Given the description of an element on the screen output the (x, y) to click on. 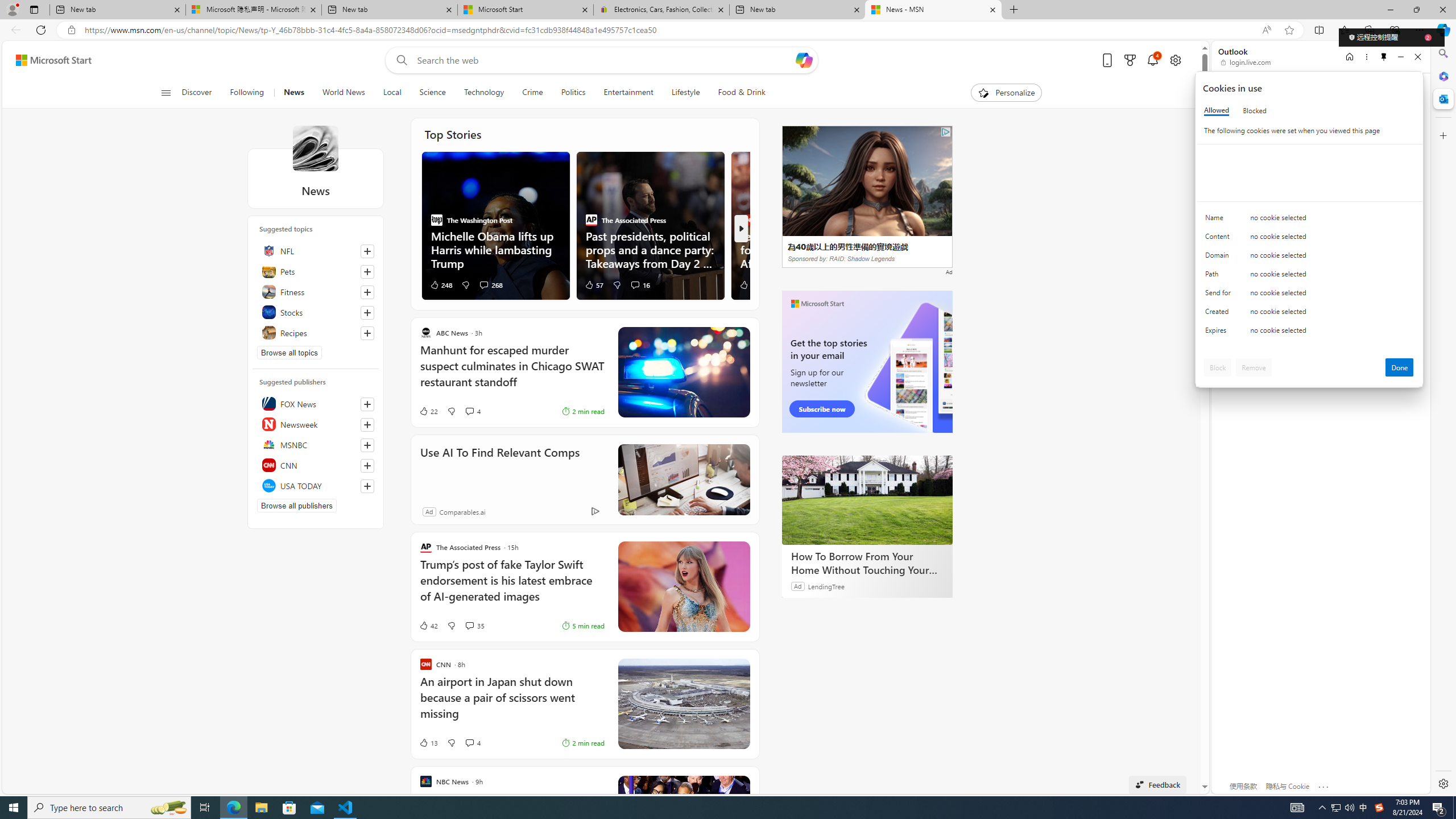
Newsweek (315, 424)
View comments 268 Comment (490, 284)
Created (1219, 313)
login.live.com (1246, 61)
